Given the description of an element on the screen output the (x, y) to click on. 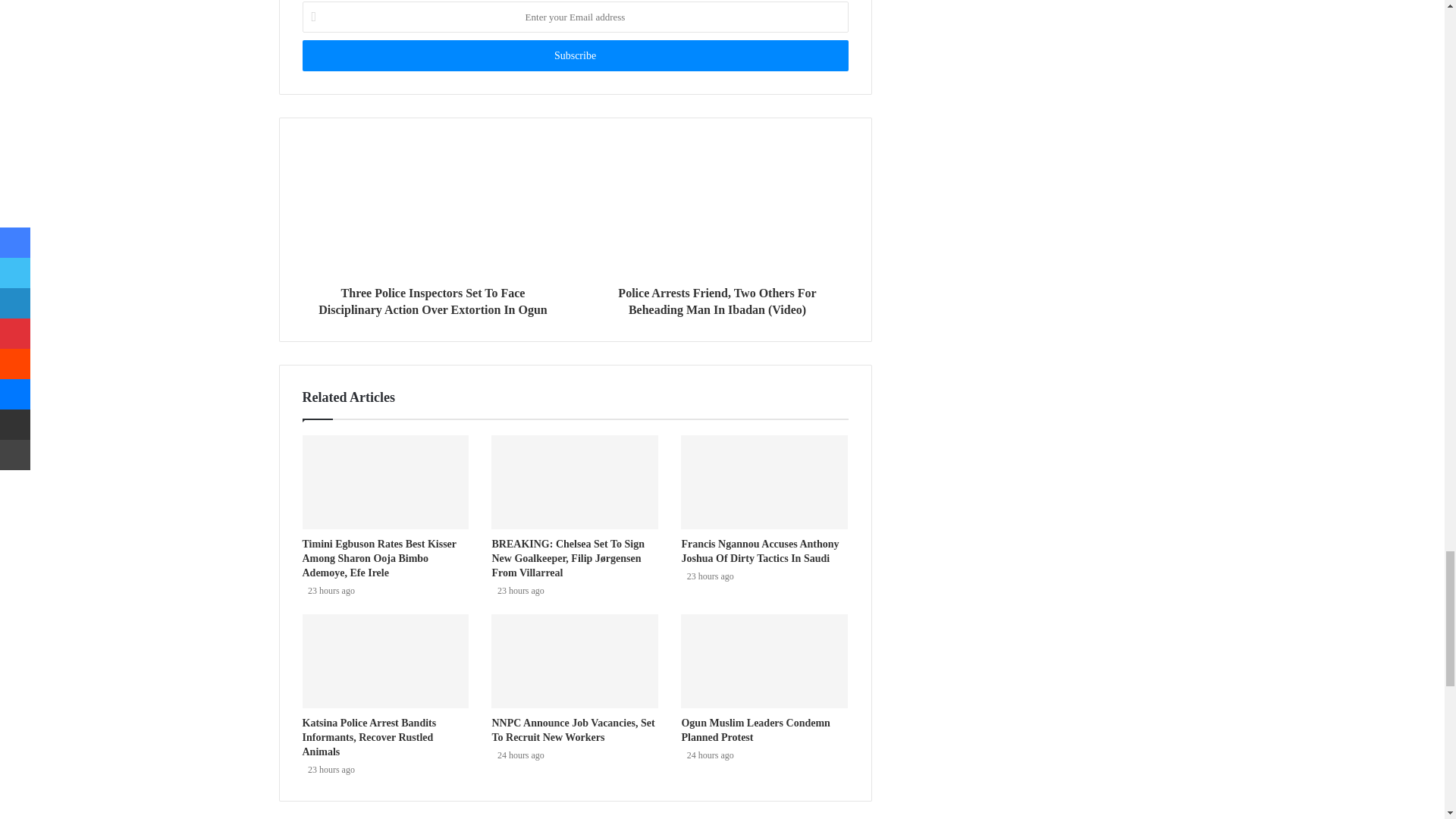
Subscribe (574, 55)
